Given the description of an element on the screen output the (x, y) to click on. 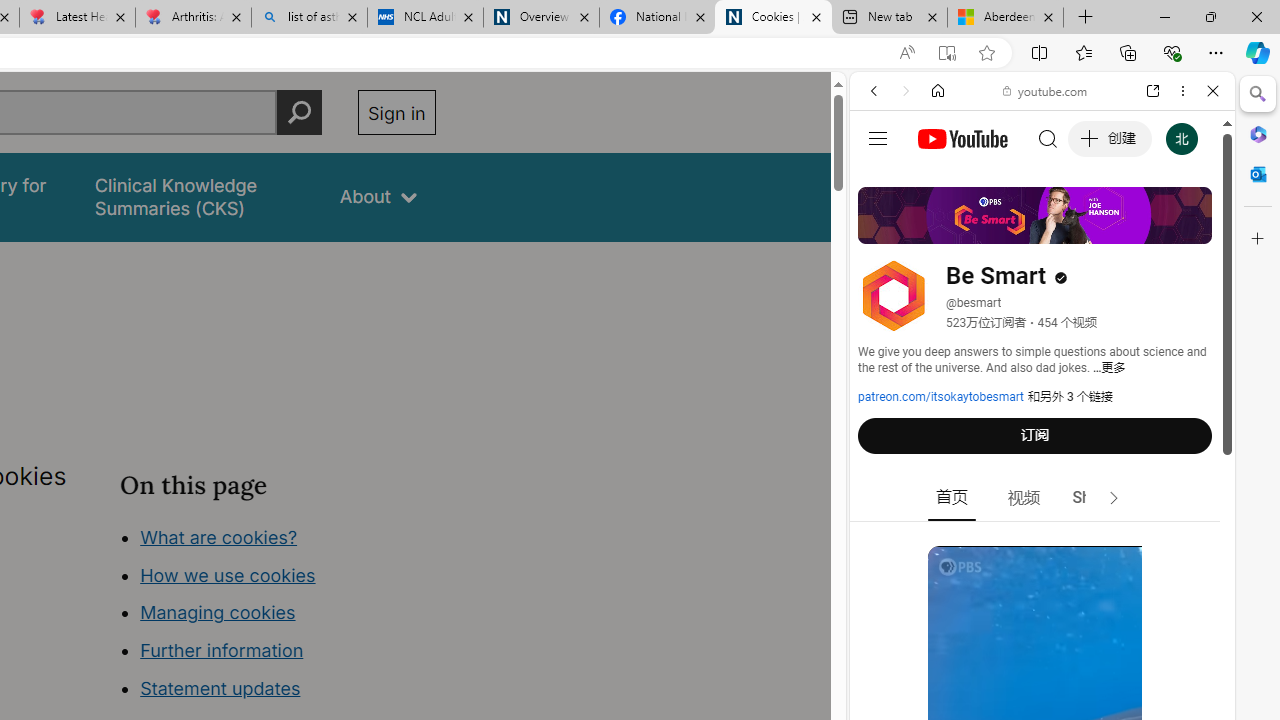
About (378, 196)
Cookies | About | NICE (772, 17)
patreon.com/itsokaytobesmart (941, 397)
Class: style-scope tp-yt-iron-icon (1114, 498)
#you (1042, 445)
This site scope (936, 180)
Preferences (1189, 228)
Aberdeen, Hong Kong SAR hourly forecast | Microsoft Weather (1005, 17)
